Given the description of an element on the screen output the (x, y) to click on. 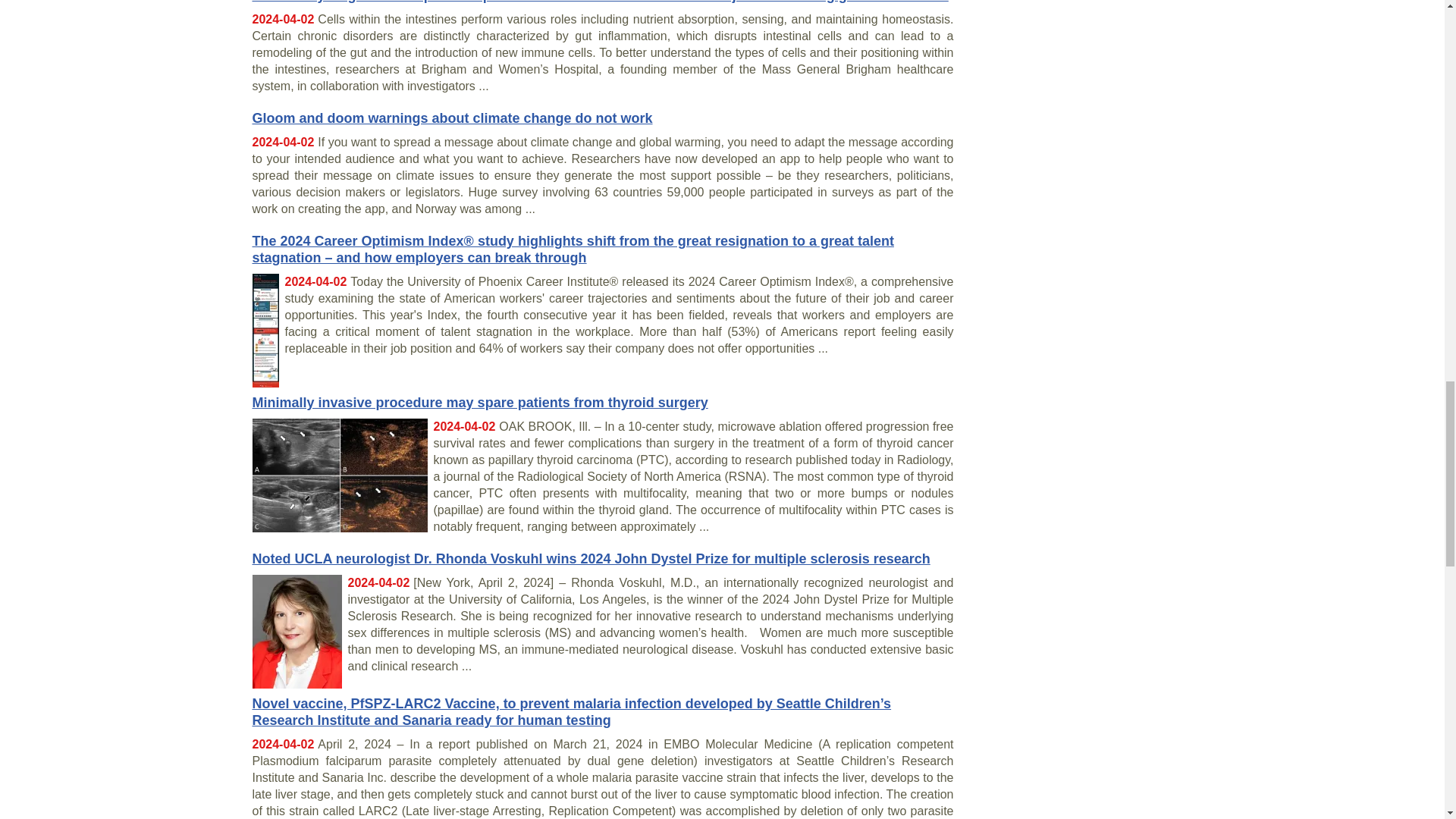
Gloom and doom warnings about climate change do not work (451, 118)
